Given the description of an element on the screen output the (x, y) to click on. 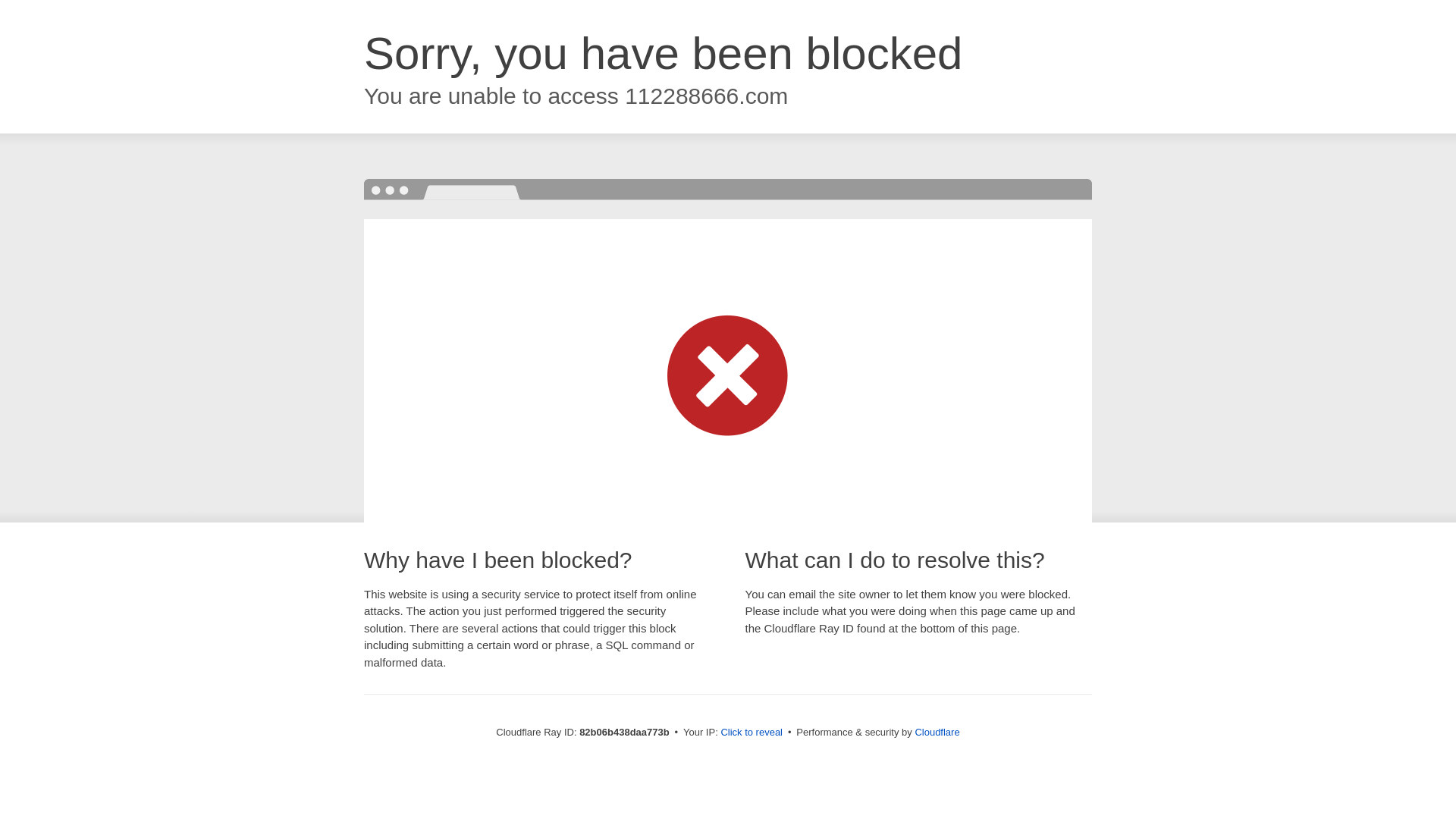
Click to reveal Element type: text (751, 732)
Cloudflare Element type: text (936, 731)
